Given the description of an element on the screen output the (x, y) to click on. 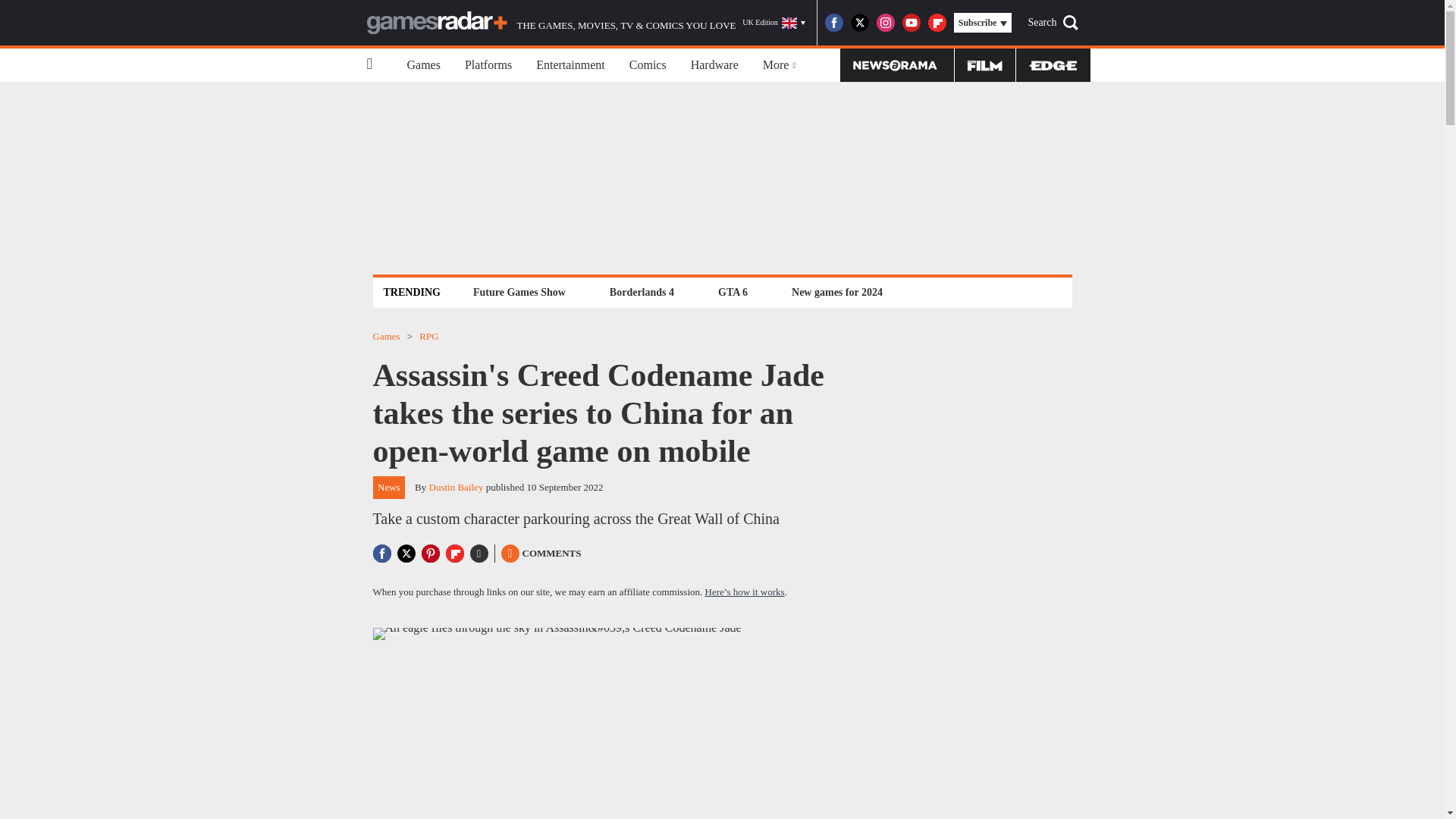
Borderlands 4 (641, 292)
Hardware (714, 64)
UK Edition (773, 22)
Comics (647, 64)
GTA 6 (732, 292)
Future Games Show (518, 292)
Entertainment (570, 64)
Games (422, 64)
New games for 2024 (837, 292)
Platforms (488, 64)
